Given the description of an element on the screen output the (x, y) to click on. 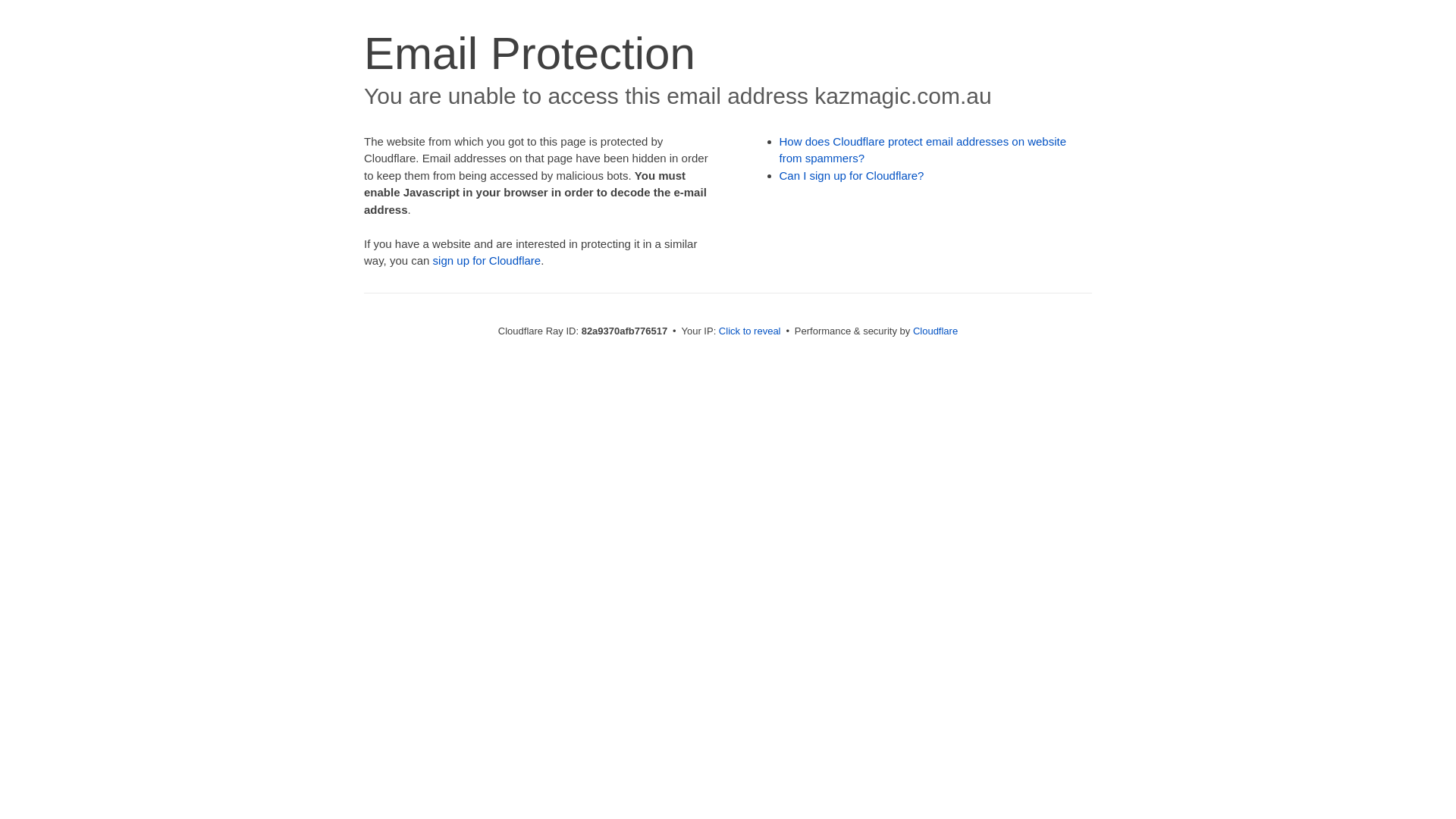
sign up for Cloudflare Element type: text (487, 260)
Can I sign up for Cloudflare? Element type: text (851, 175)
Cloudflare Element type: text (935, 330)
Click to reveal Element type: text (749, 330)
